Given the description of an element on the screen output the (x, y) to click on. 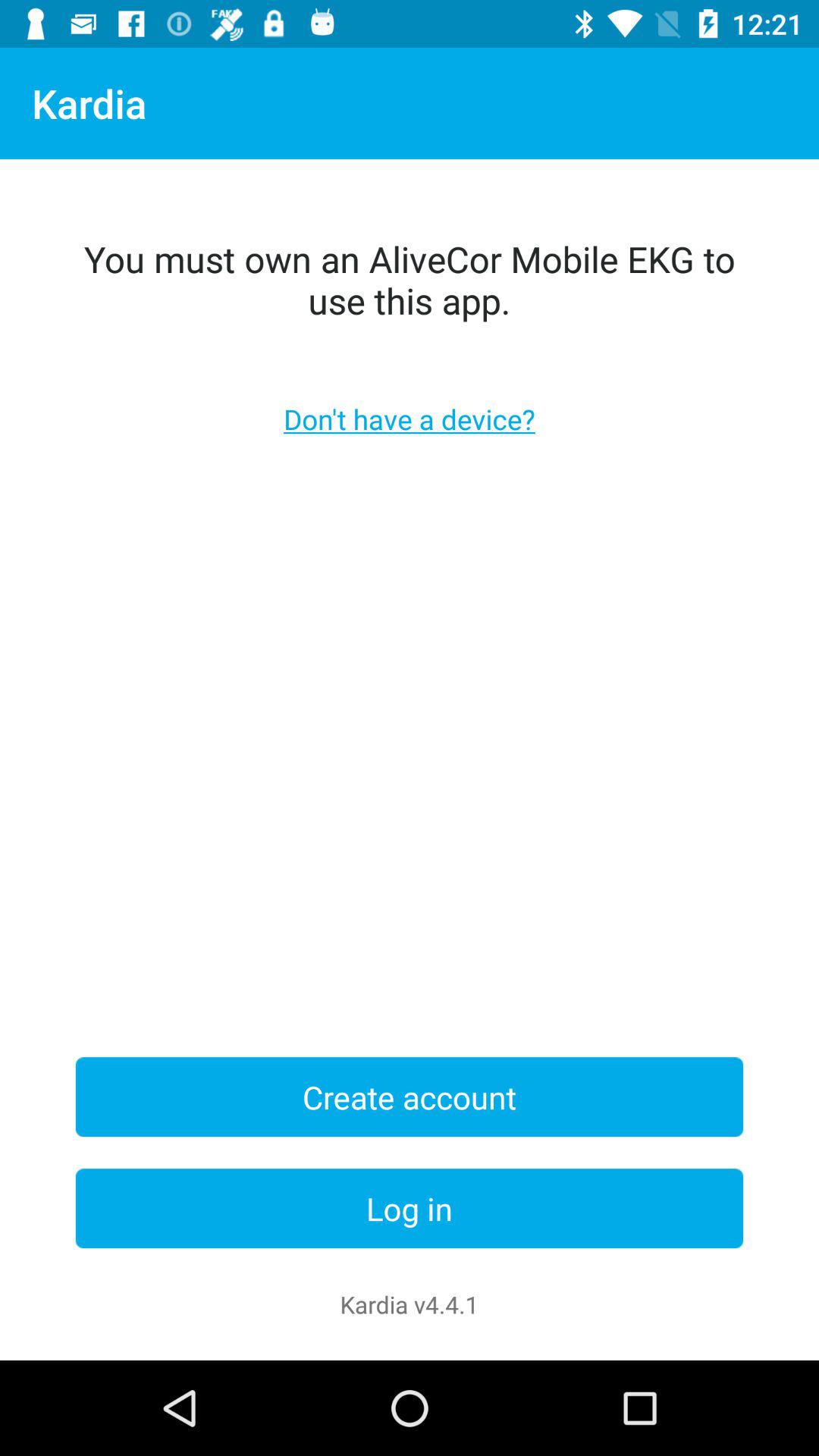
turn off the item above the kardia v4 4 icon (409, 1208)
